Given the description of an element on the screen output the (x, y) to click on. 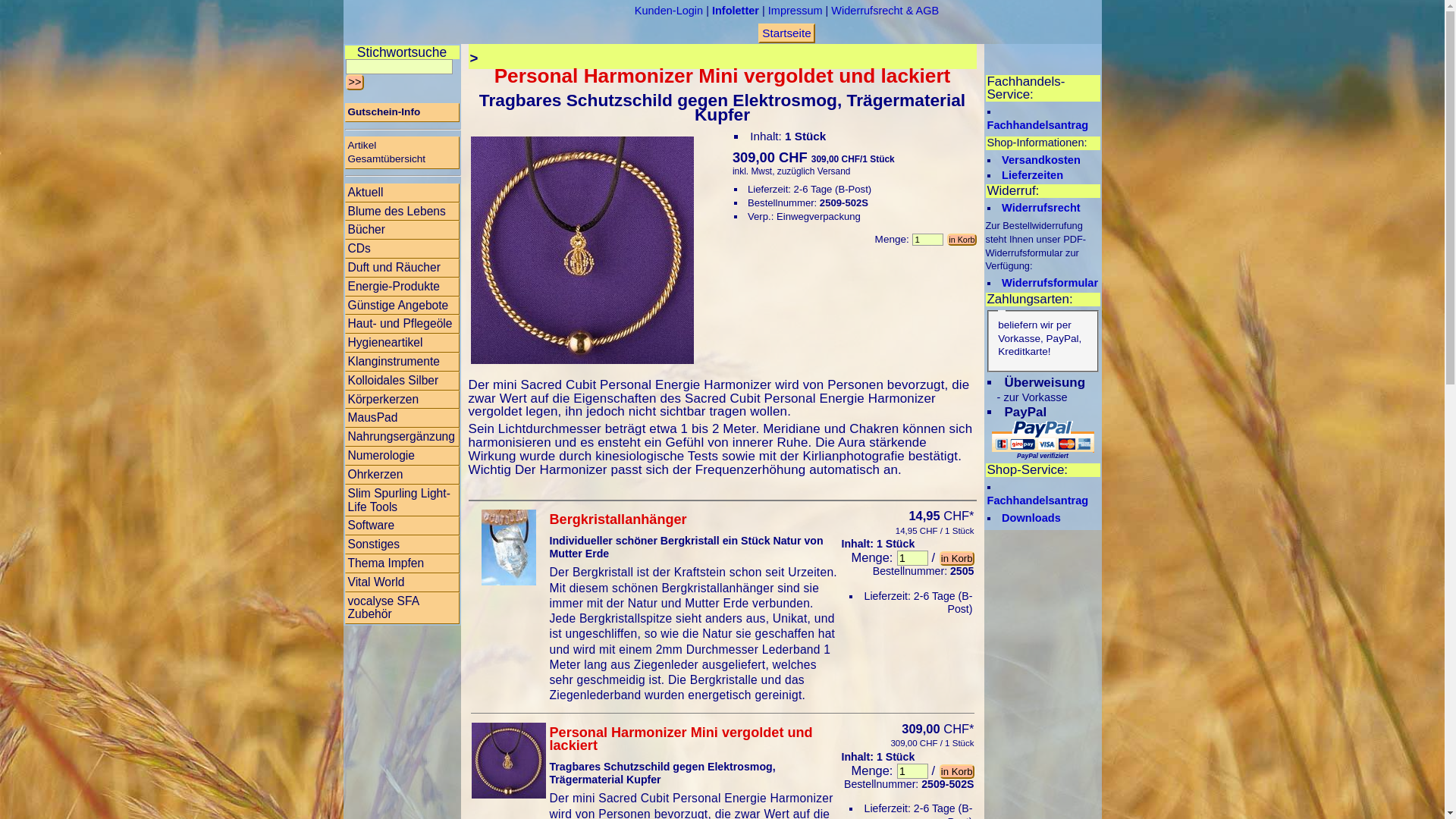
Gutschein-Info Element type: text (401, 112)
in Korb Element type: text (961, 239)
Vital World Element type: text (401, 582)
MausPad Element type: text (401, 417)
Ohrkerzen Element type: text (401, 474)
Startseite Element type: text (786, 32)
Impressum Element type: text (795, 10)
Fachhandelsantrag Element type: text (1037, 125)
Klanginstrumente Element type: text (401, 361)
Thema Impfen Element type: text (401, 563)
Energie-Produkte Element type: text (401, 286)
Sonstiges Element type: text (401, 544)
Infoletter Element type: text (735, 10)
Lieferzeiten Element type: text (1032, 174)
Widerrufsformular Element type: text (1049, 282)
Kunden-Login Element type: text (668, 10)
in Korb Element type: text (956, 558)
Personal Harmonizer Mini vergoldet und lackiert Element type: text (693, 747)
Fachhandelsantrag Element type: text (1037, 500)
Versandkosten Element type: text (1040, 159)
CDs Element type: text (401, 248)
Software Element type: text (401, 525)
Downloads Element type: text (1030, 517)
Hygieneartikel Element type: text (401, 342)
Blume des Lebens Element type: text (401, 210)
Aktuell Element type: text (401, 192)
Kolloidales Silber Element type: text (401, 380)
in Korb Element type: text (956, 771)
Widerrufsrecht & AGB Element type: text (884, 10)
Slim Spurling Light-Life Tools Element type: text (401, 500)
Widerrufsrecht Element type: text (1040, 207)
Numerologie Element type: text (401, 455)
Personal Harmonizer Mini vergoldet und lackiert Element type: hover (508, 760)
